Given the description of an element on the screen output the (x, y) to click on. 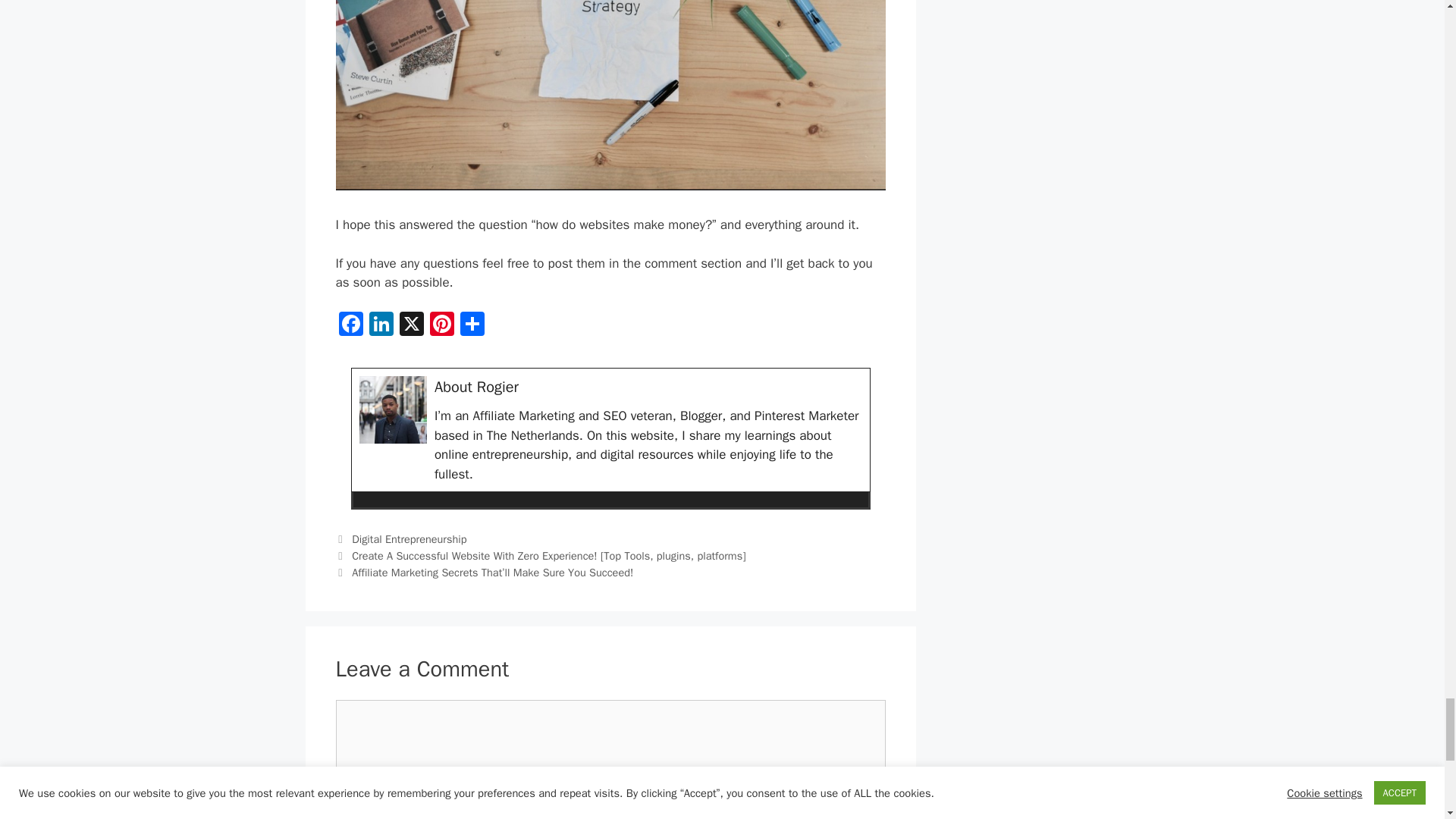
Pinterest (441, 326)
Pinterest (441, 326)
Rogier (497, 386)
Facebook (349, 326)
X (411, 326)
Facebook (349, 326)
Digital Entrepreneurship (408, 539)
LinkedIn (380, 326)
LinkedIn (380, 326)
X (411, 326)
